Given the description of an element on the screen output the (x, y) to click on. 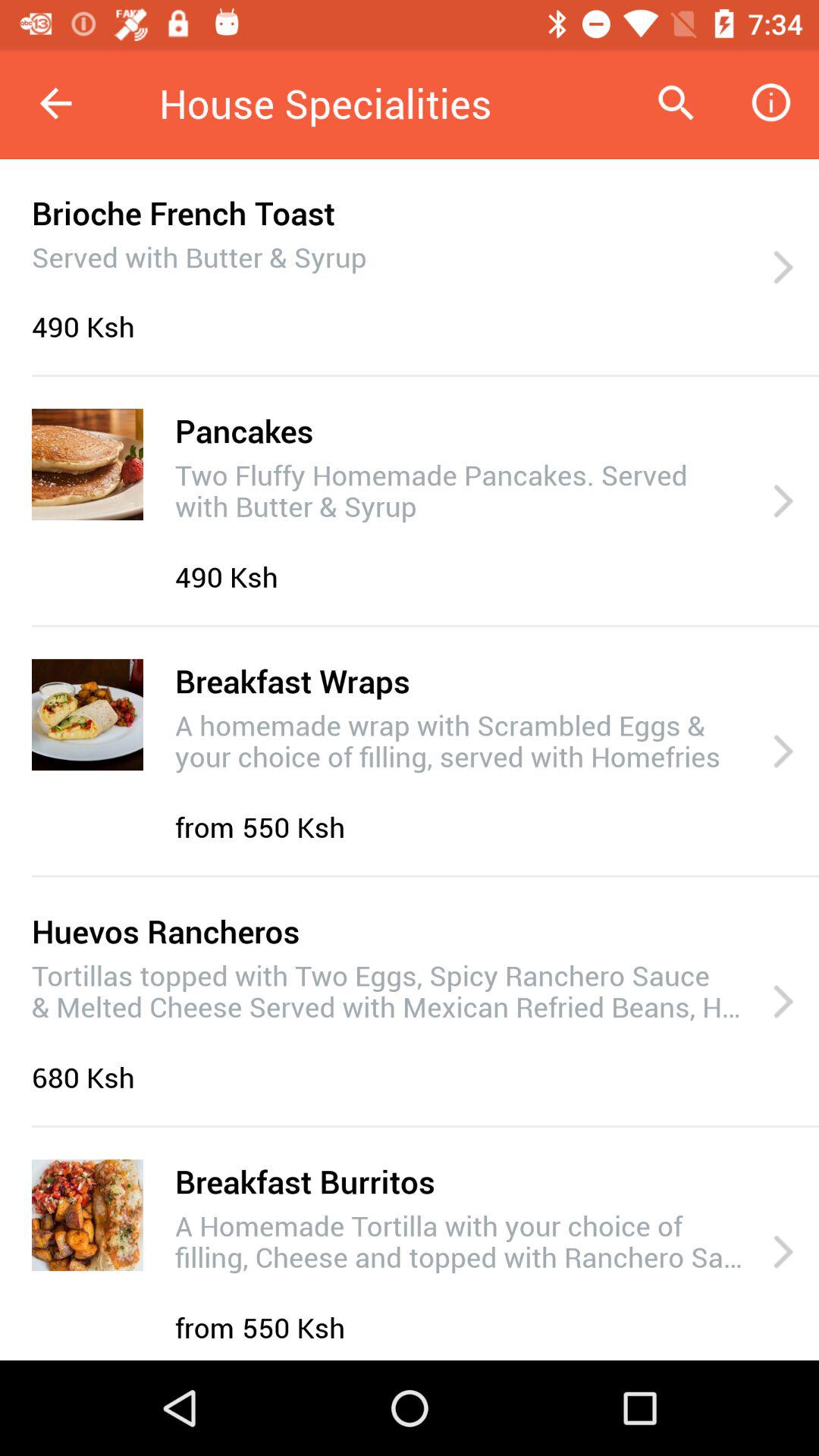
launch icon above tortillas topped with icon (165, 930)
